Given the description of an element on the screen output the (x, y) to click on. 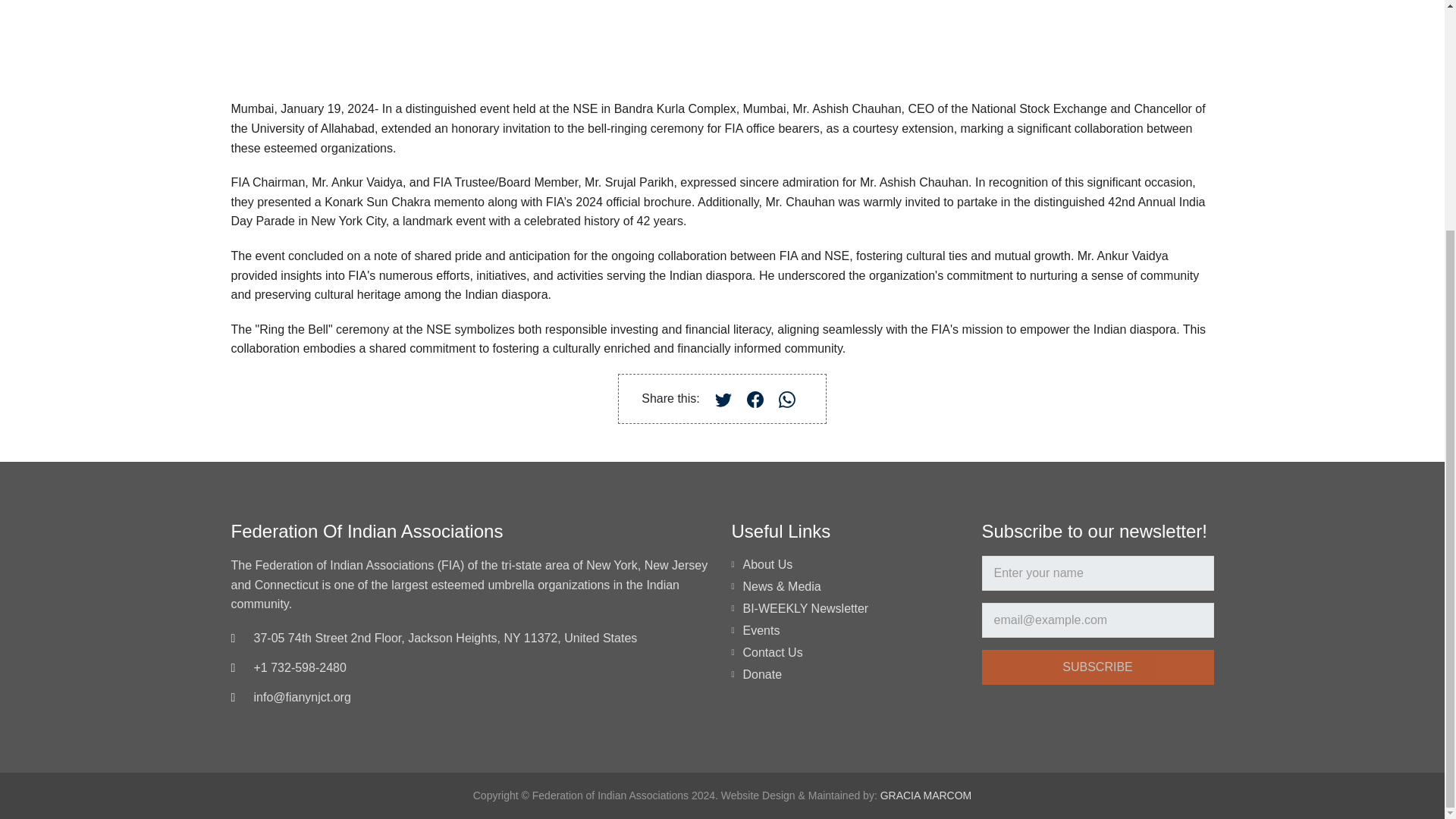
Contact Us (772, 652)
BI-WEEKLY Newsletter (805, 608)
About Us (767, 563)
Events (761, 630)
Subscribe (1096, 667)
